Given the description of an element on the screen output the (x, y) to click on. 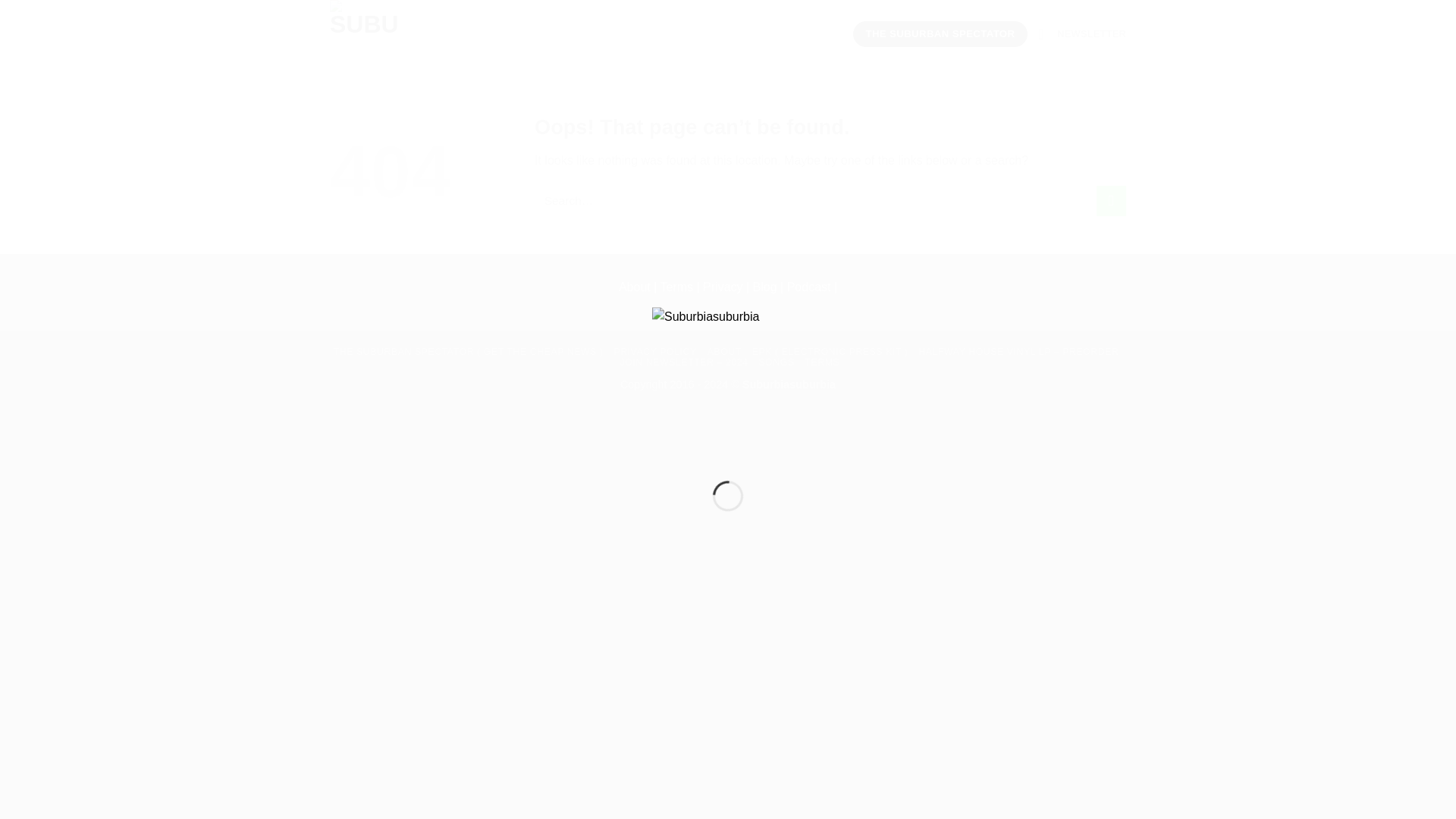
THE SUBURBAN SPECTATOR (940, 33)
PRIVACY POLICY (653, 351)
Terms (676, 286)
ABOUT (724, 351)
Sign up for Newsletter (1081, 33)
NEWSLETTER (1081, 33)
Privacy (722, 286)
Blog (766, 286)
SONGS (775, 362)
TERMS (822, 362)
